Given the description of an element on the screen output the (x, y) to click on. 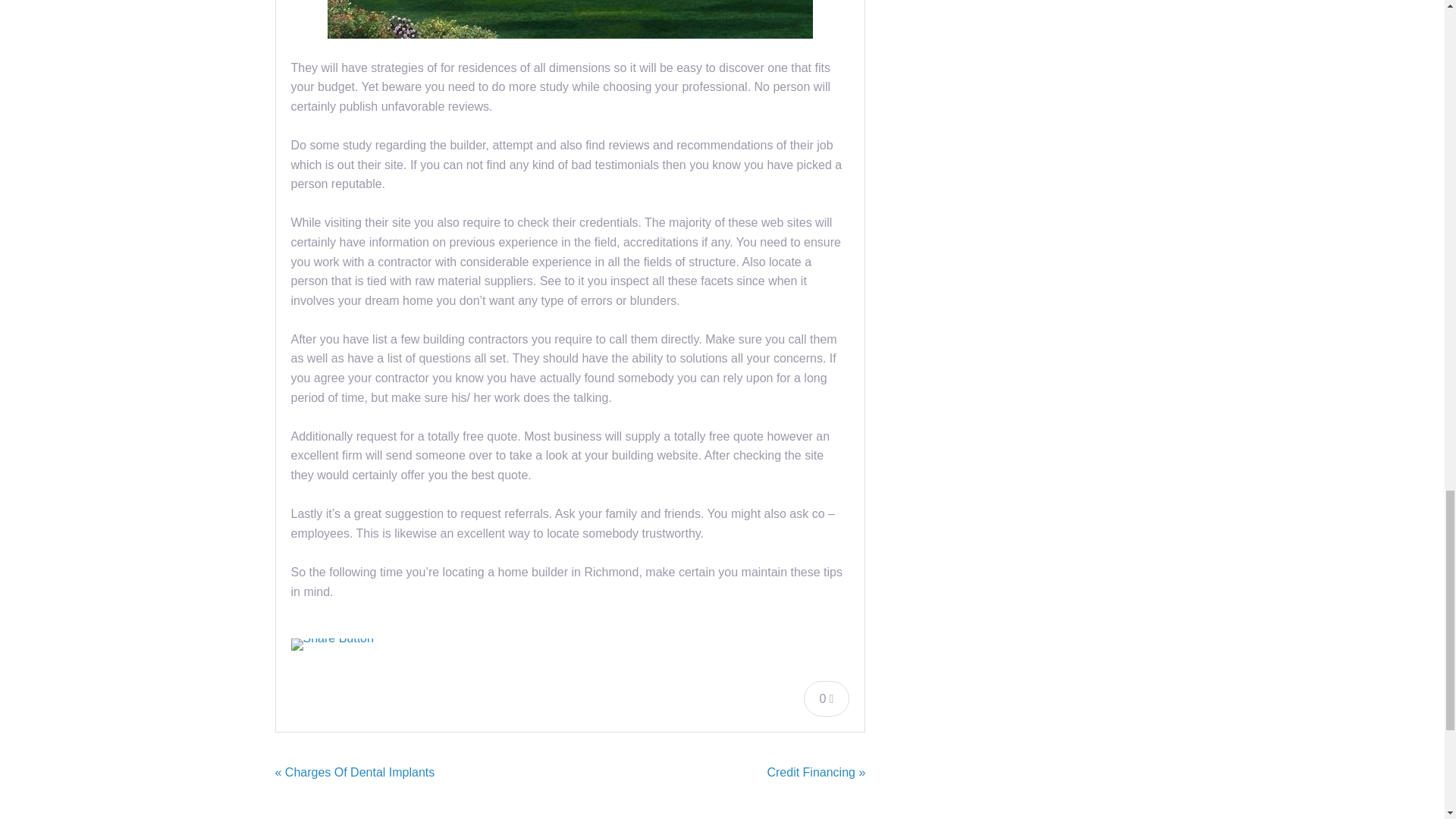
0 (826, 698)
